Given the description of an element on the screen output the (x, y) to click on. 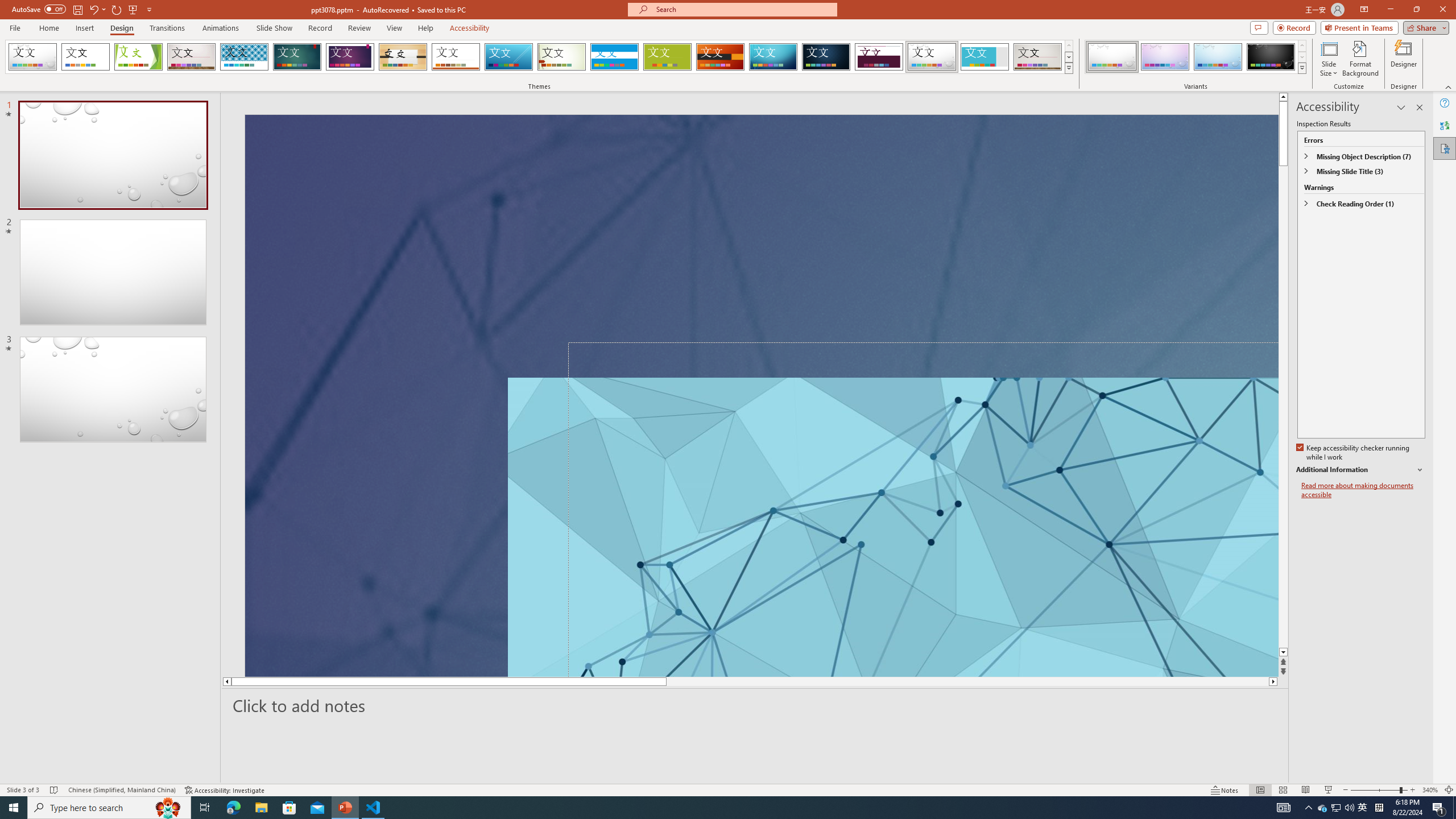
Organic (403, 56)
An abstract genetic concept (761, 395)
Droplet Variant 4 (1270, 56)
Droplet Variant 2 (1164, 56)
Title TextBox (938, 527)
Office Theme (85, 56)
Wisp (561, 56)
AutomationID: ThemeVariantsGallery (1195, 56)
